Given the description of an element on the screen output the (x, y) to click on. 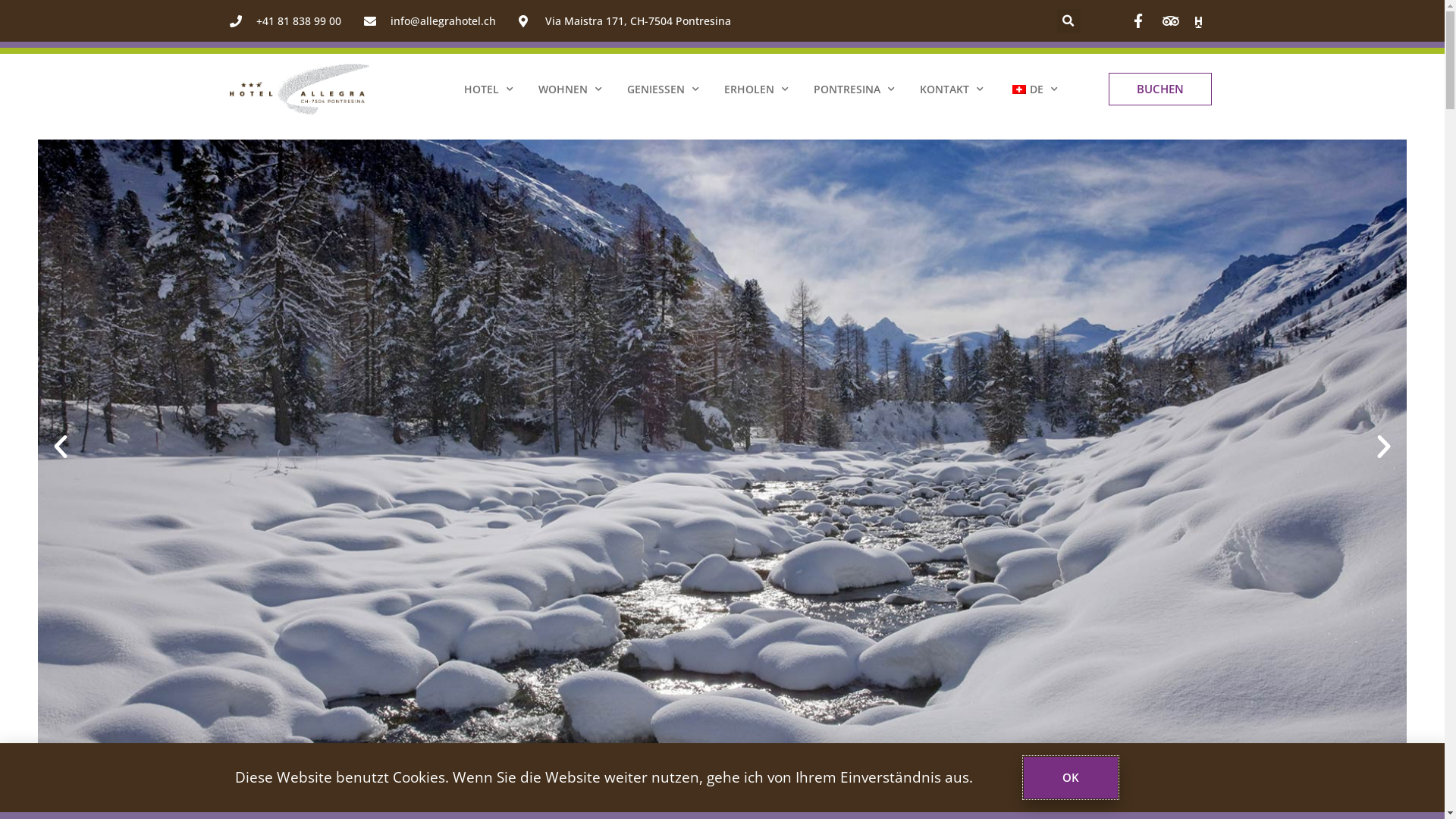
BUCHEN Element type: text (1159, 88)
KONTAKT Element type: text (950, 89)
+41 81 838 99 00 Element type: text (284, 21)
WOHNEN Element type: text (570, 89)
Via Maistra 171, CH-7504 Pontresina Element type: text (624, 21)
info@allegrahotel.ch Element type: text (429, 21)
PONTRESINA Element type: text (853, 89)
GENIESSEN Element type: text (662, 89)
HOTEL Element type: text (488, 89)
German Element type: hover (1018, 89)
ERHOLEN Element type: text (755, 89)
DE Element type: text (1032, 89)
OK Element type: text (1070, 777)
